Given the description of an element on the screen output the (x, y) to click on. 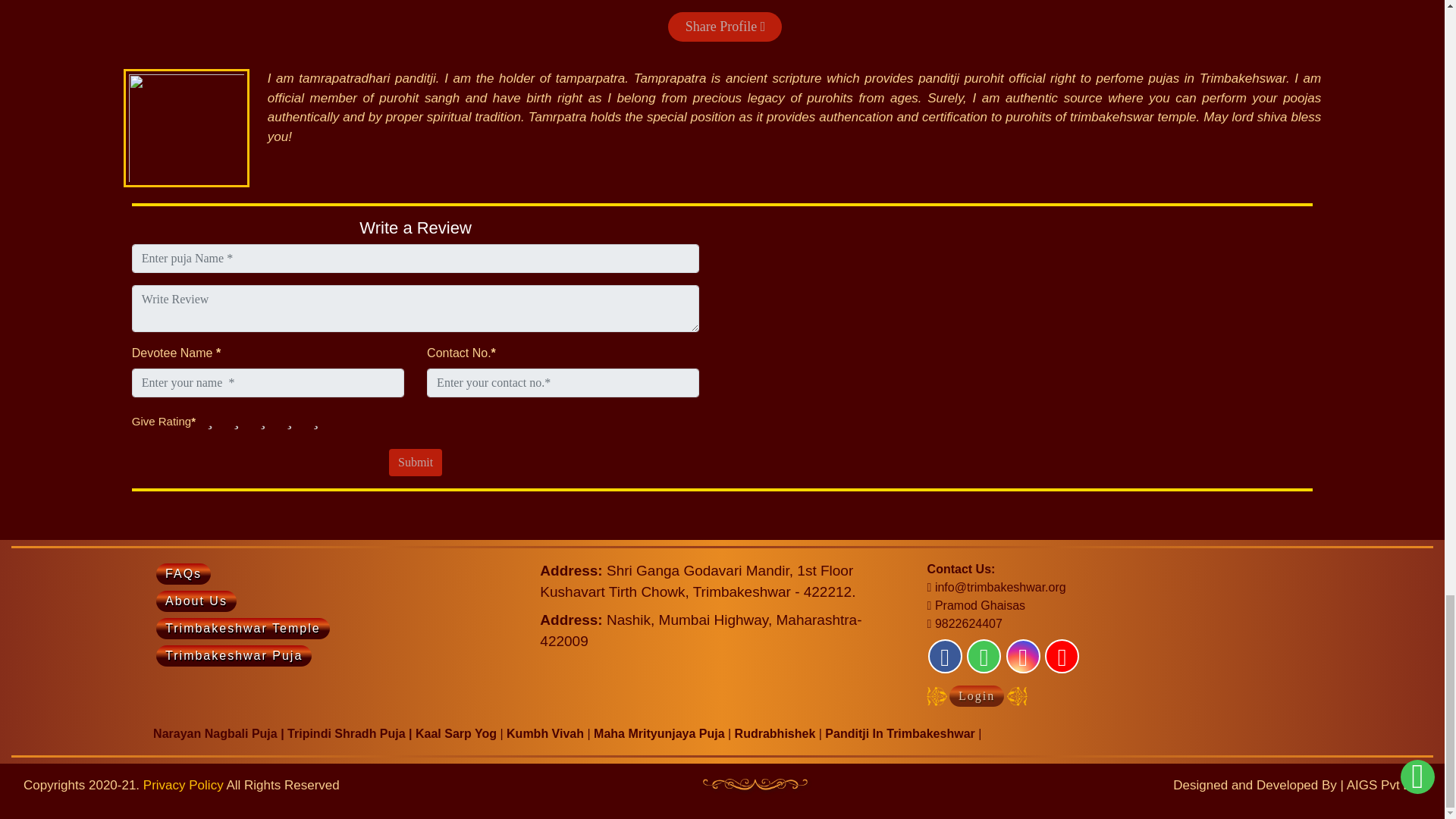
Poor (210, 418)
Share Profile (724, 26)
FAQs (183, 573)
Youtube (1061, 656)
Excellent (289, 418)
Submit (415, 461)
Instagram (1023, 656)
Fair (236, 418)
WOW!!! (314, 418)
Good (262, 418)
